Given the description of an element on the screen output the (x, y) to click on. 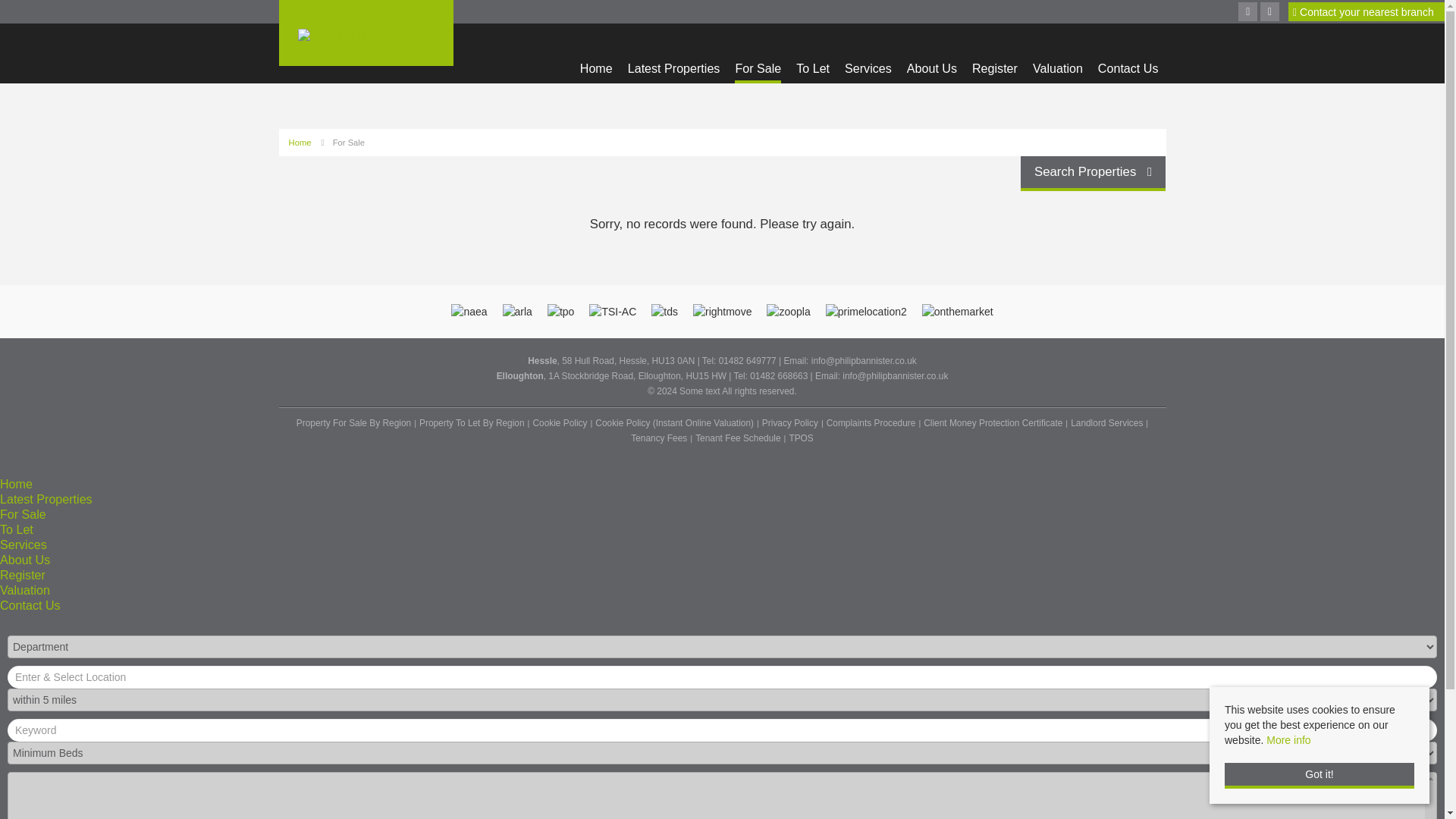
Client Money Protection Certificate (992, 422)
About Us (931, 71)
Valuation (1057, 71)
Property To Let By Region (471, 422)
Landlord Services (1106, 422)
Privacy Policy (789, 422)
Contact your nearest branch (1363, 11)
Register (994, 71)
For Sale (349, 142)
To Let (812, 71)
